Given the description of an element on the screen output the (x, y) to click on. 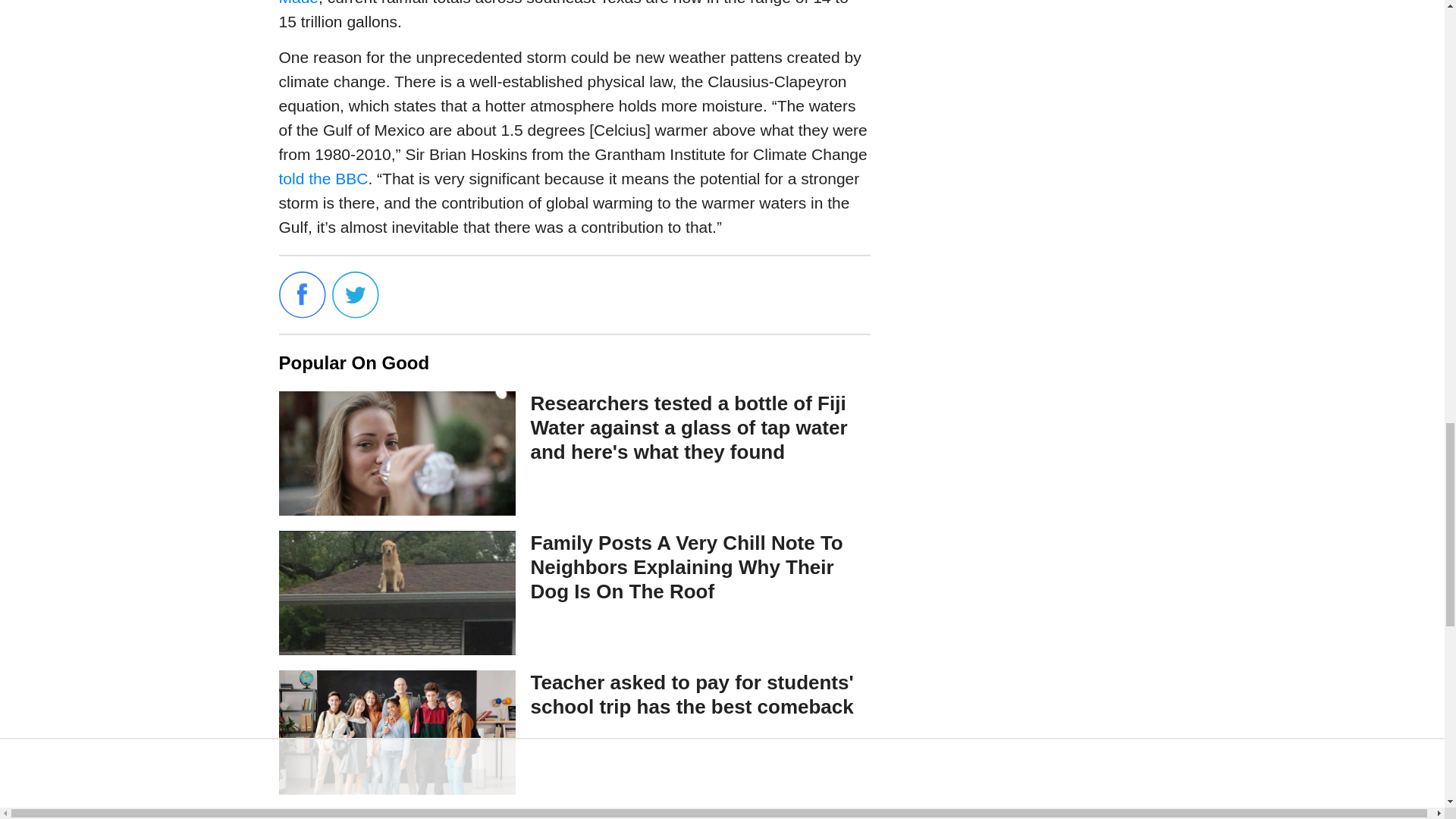
told the BBC (323, 178)
